Given the description of an element on the screen output the (x, y) to click on. 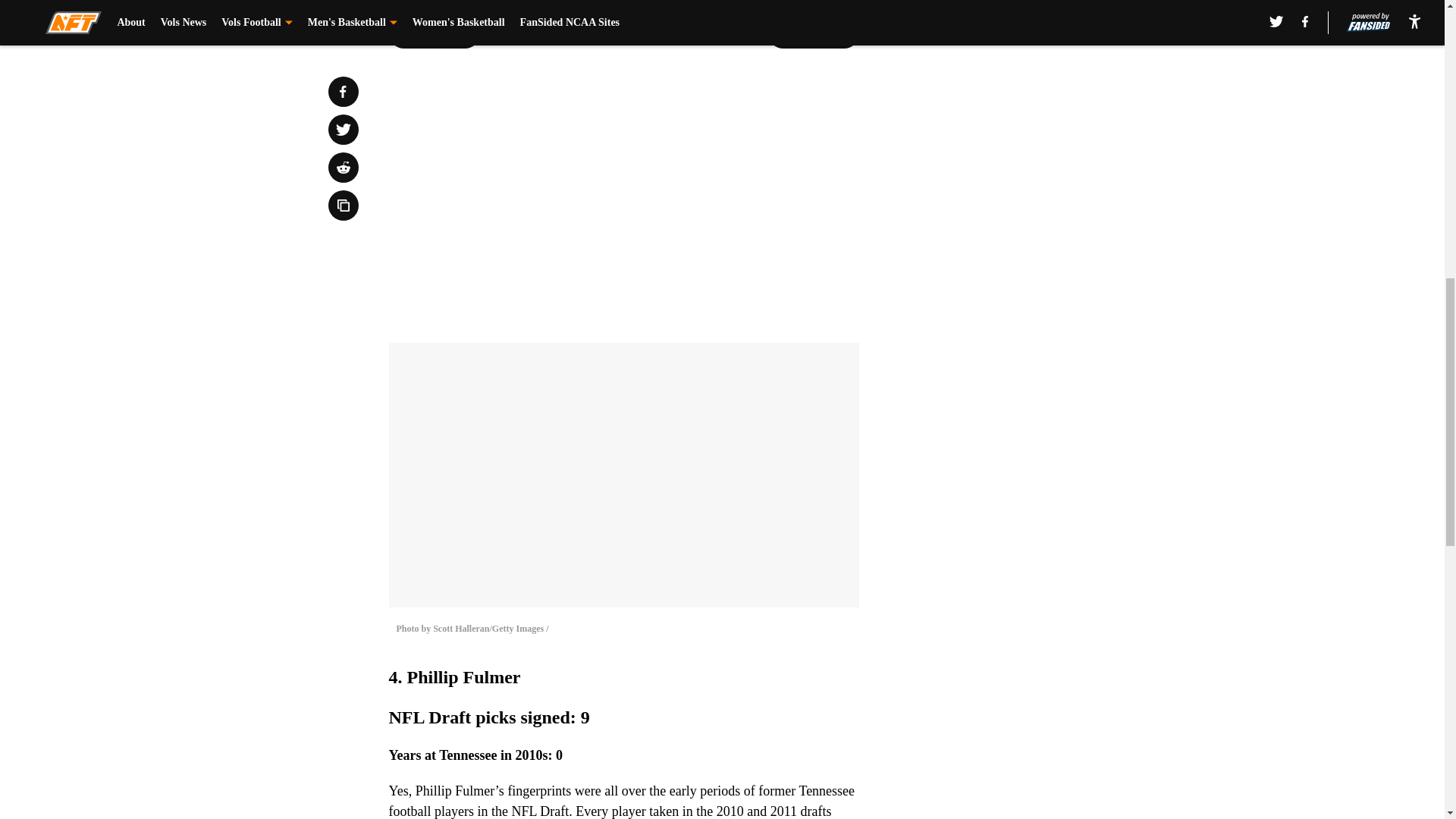
Prev (433, 33)
Next (813, 33)
